Given the description of an element on the screen output the (x, y) to click on. 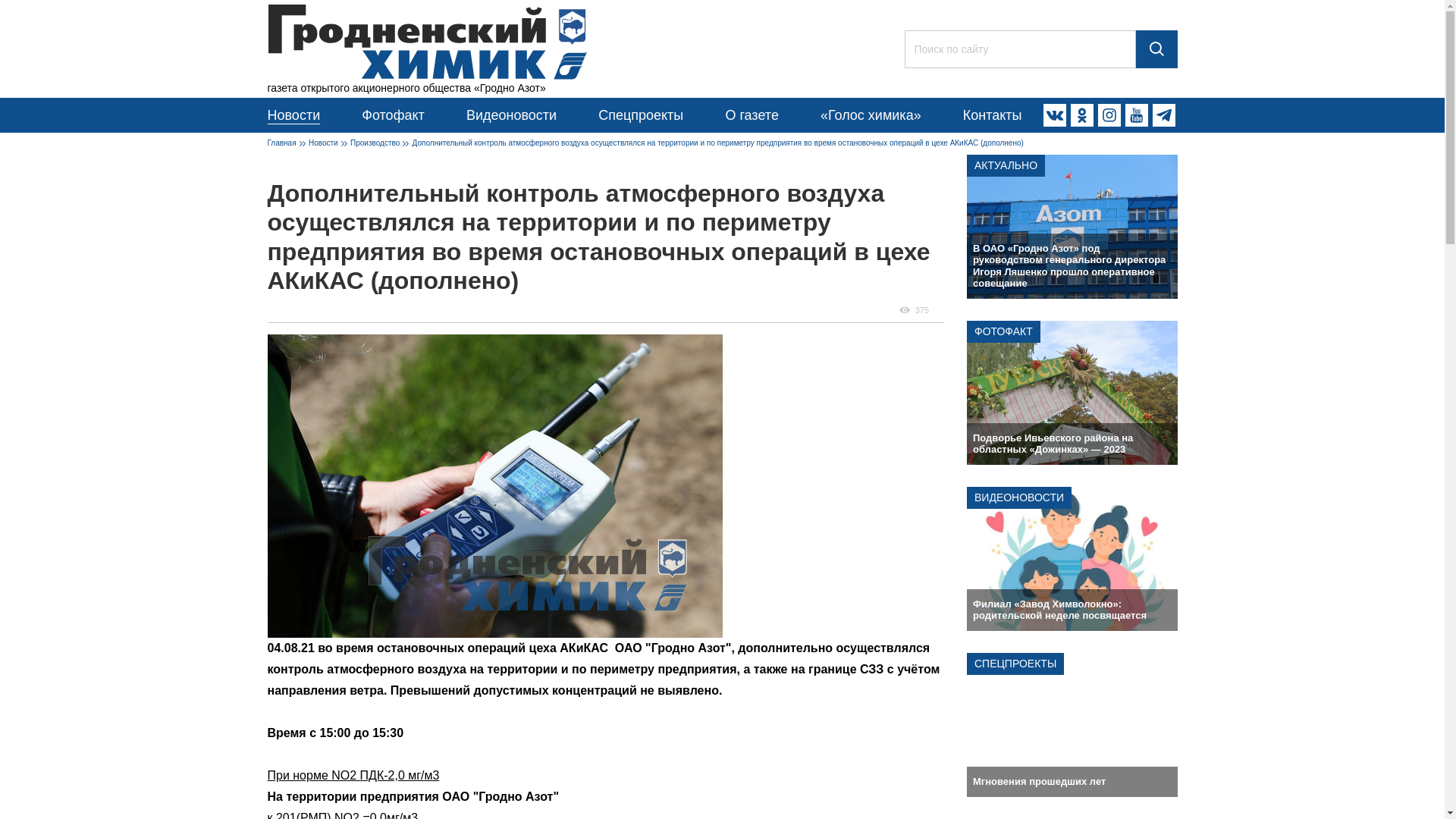
e0c8ae719e7aac23c6ecacb5747f9b8a3b7702be_big.jpg Element type: hover (493, 485)
